Given the description of an element on the screen output the (x, y) to click on. 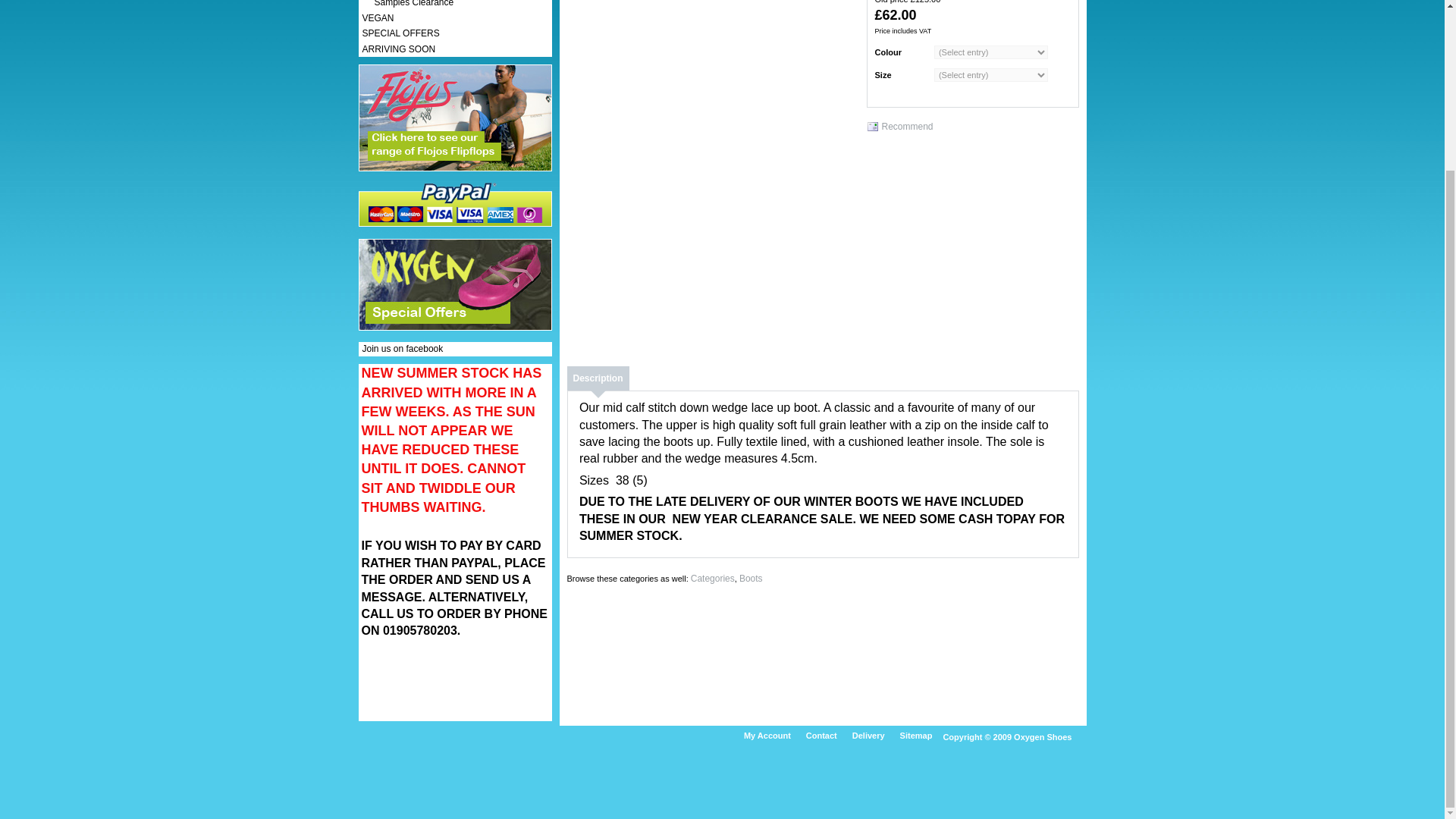
VEGAN (378, 18)
Samples Clearance (408, 3)
My Account (770, 735)
Description (597, 378)
Contact (825, 735)
Categories (712, 578)
ARRIVING SOON (398, 49)
Boots (750, 578)
Sitemap (919, 735)
Recommend (899, 127)
